Given the description of an element on the screen output the (x, y) to click on. 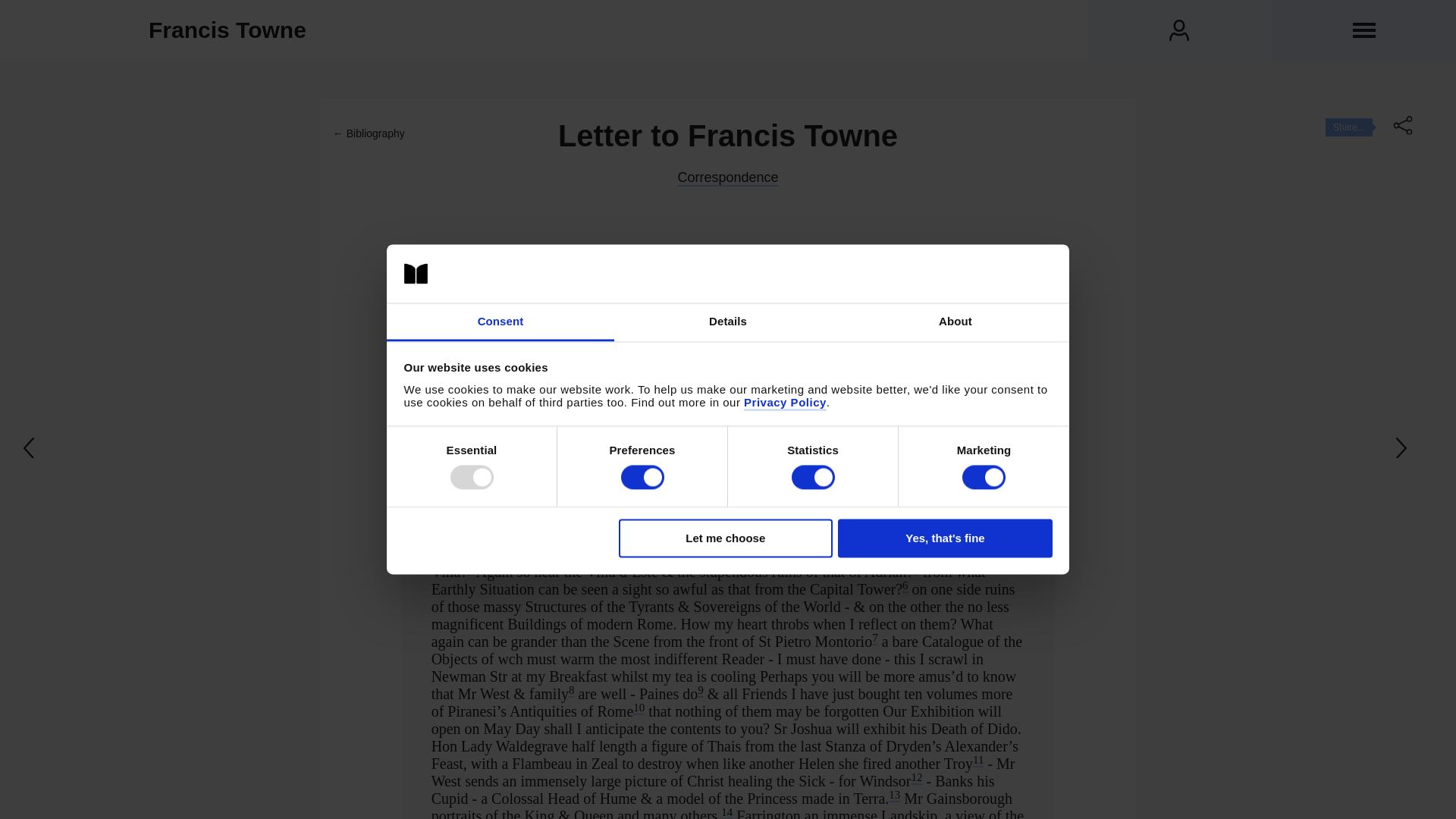
Privacy Policy (785, 402)
Details (727, 322)
Menu (1363, 30)
About (954, 322)
Account (1179, 30)
Consent (500, 322)
